Given the description of an element on the screen output the (x, y) to click on. 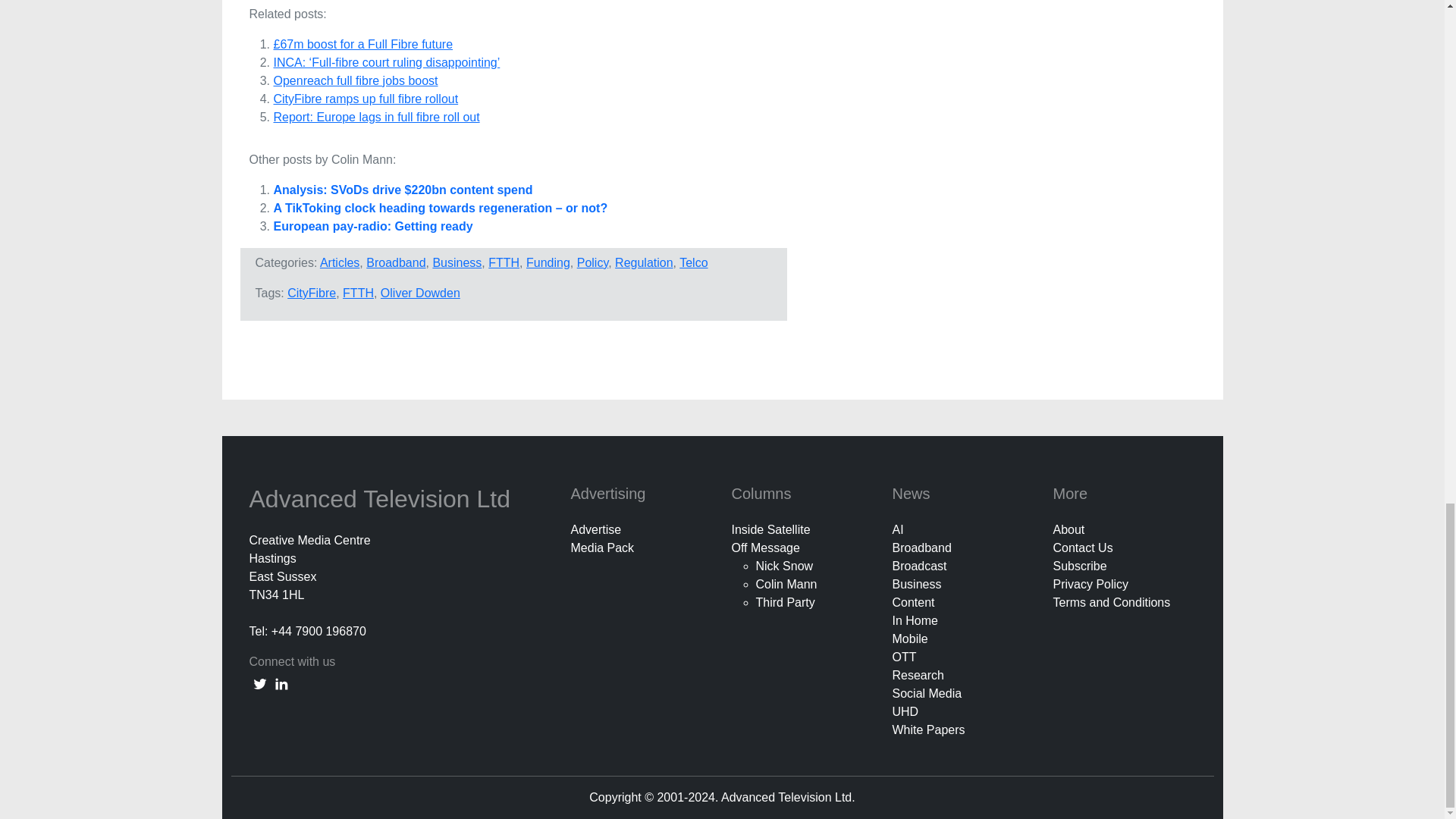
Report: Europe lags in full fibre roll out (376, 116)
Openreach full fibre jobs boost (355, 80)
Articles (339, 262)
FTTH (358, 292)
Telco (693, 262)
Broadband (395, 262)
CityFibre (311, 292)
Report: Europe lags in full fibre roll out (376, 116)
CityFibre ramps up full fibre rollout (365, 98)
Policy (592, 262)
Funding (547, 262)
CityFibre ramps up full fibre rollout (365, 98)
European pay-radio: Getting ready (372, 226)
Business (456, 262)
Openreach full fibre jobs boost (355, 80)
